Given the description of an element on the screen output the (x, y) to click on. 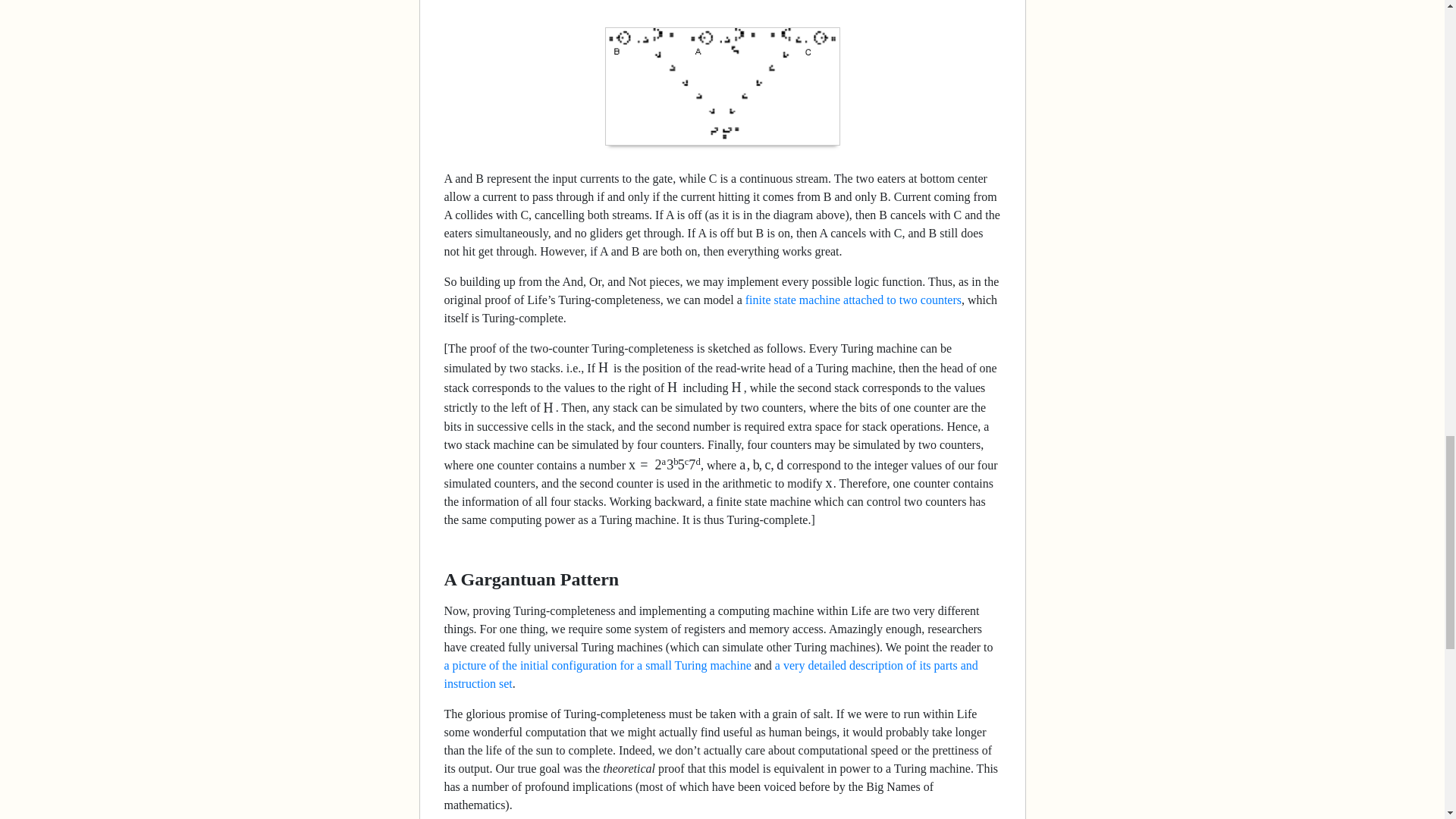
finite state machine attached to two counters (852, 299)
a very detailed description of its parts and instruction set (711, 674)
